Given the description of an element on the screen output the (x, y) to click on. 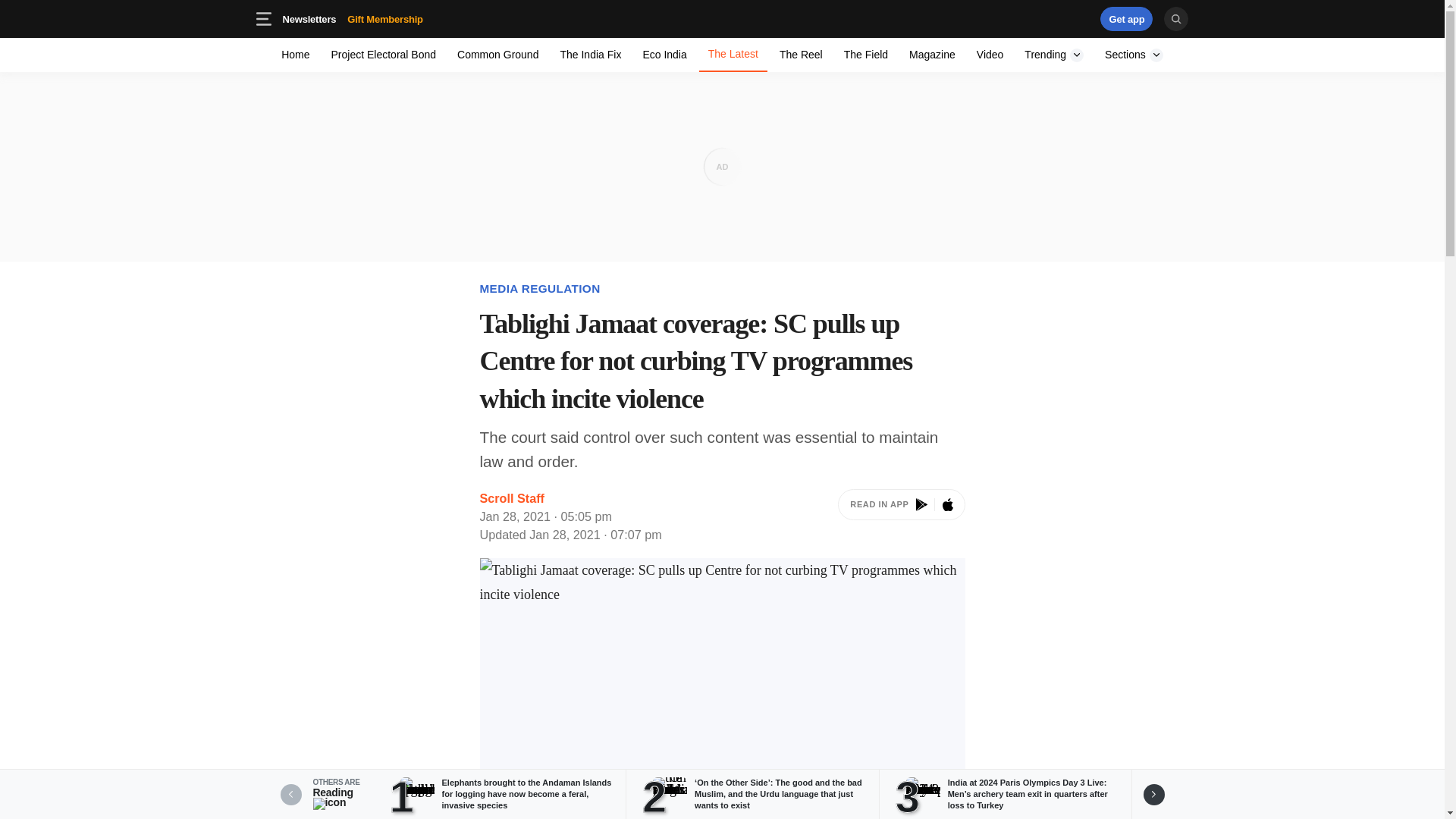
Eco India (721, 18)
Project Electoral Bond (409, 18)
READ IN APP (664, 54)
The Reel (352, 18)
Video (383, 54)
Common Ground (900, 516)
Trending (800, 54)
The Field (990, 54)
Get app (497, 54)
Gift Membership (1053, 54)
Get app (865, 54)
Home (1126, 18)
